Given the description of an element on the screen output the (x, y) to click on. 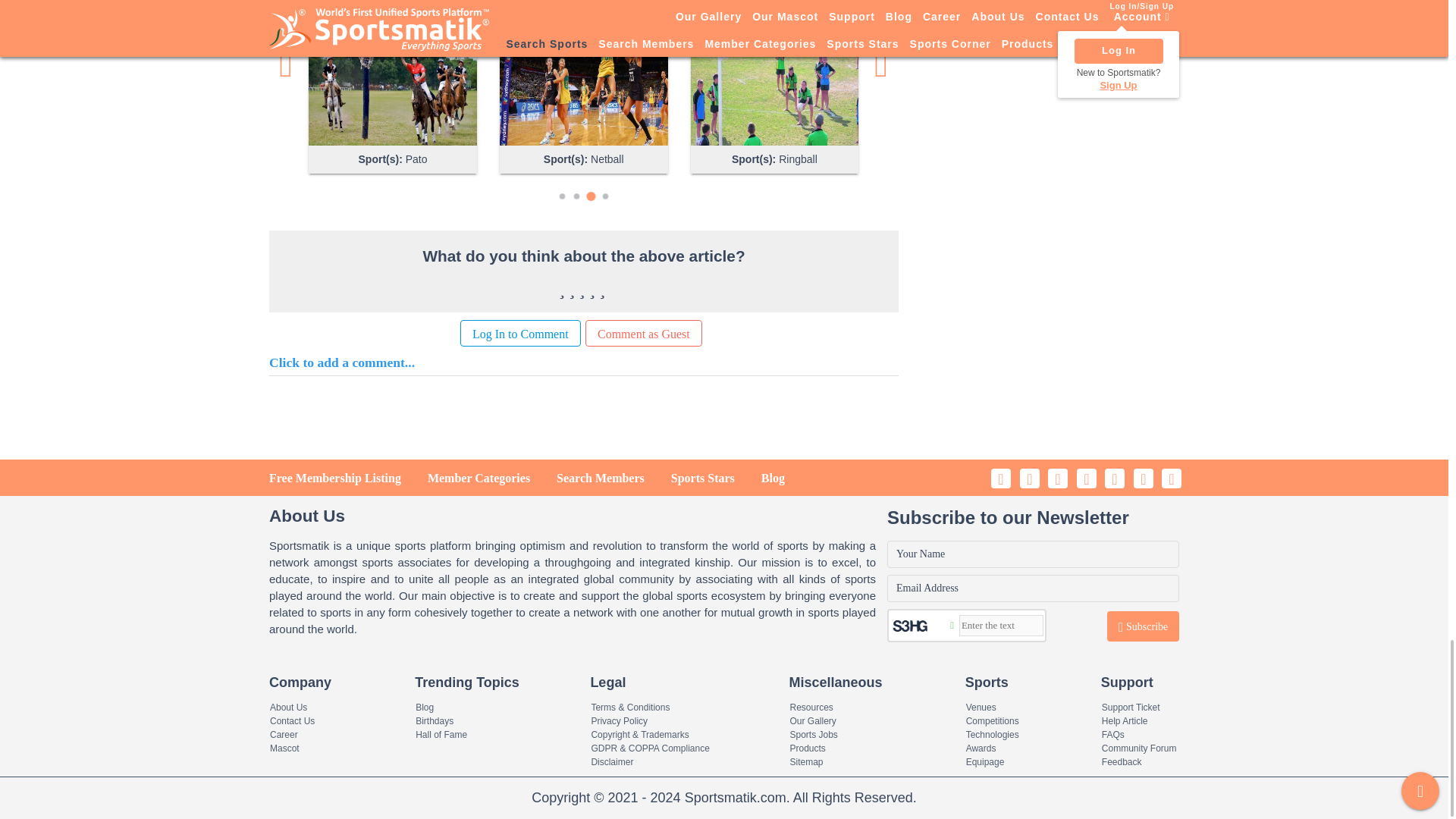
Comment as Guest (643, 333)
Log In to comment (520, 333)
